Given the description of an element on the screen output the (x, y) to click on. 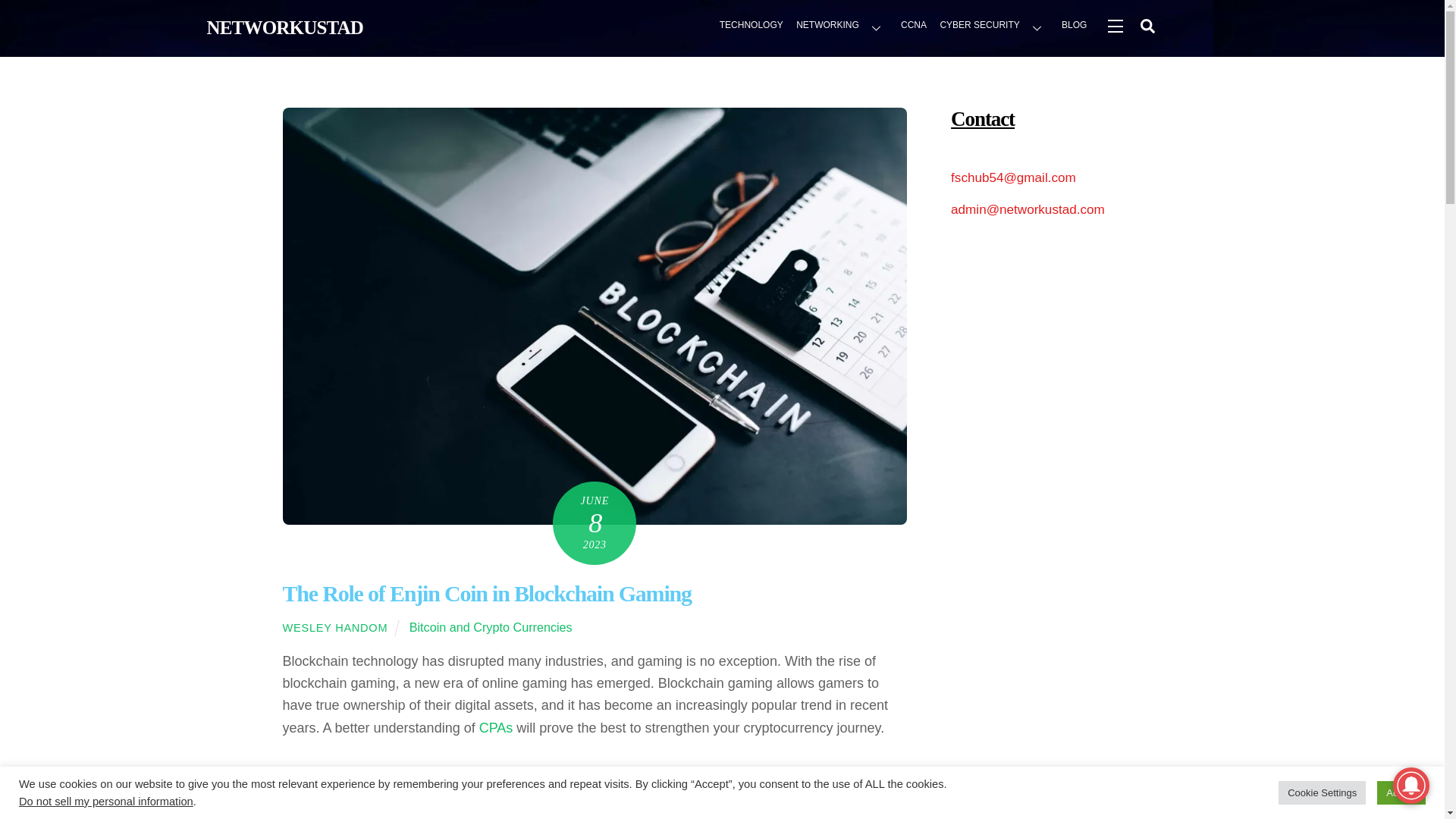
WIDGETS (1114, 25)
Bitcoin and Crypto Currencies (490, 626)
NETWORKING (841, 26)
TECHNOLOGY (751, 26)
NetworkUstad (284, 27)
SEARCH (1146, 24)
CYBER SECURITY (994, 26)
BLOG (1075, 26)
CCNA (913, 26)
NETWORKUSTAD (284, 27)
WESLEY HANDOM (334, 627)
CPAs (496, 727)
10 Best Business Ideas You Can Start in 2024 (1044, 800)
